Given the description of an element on the screen output the (x, y) to click on. 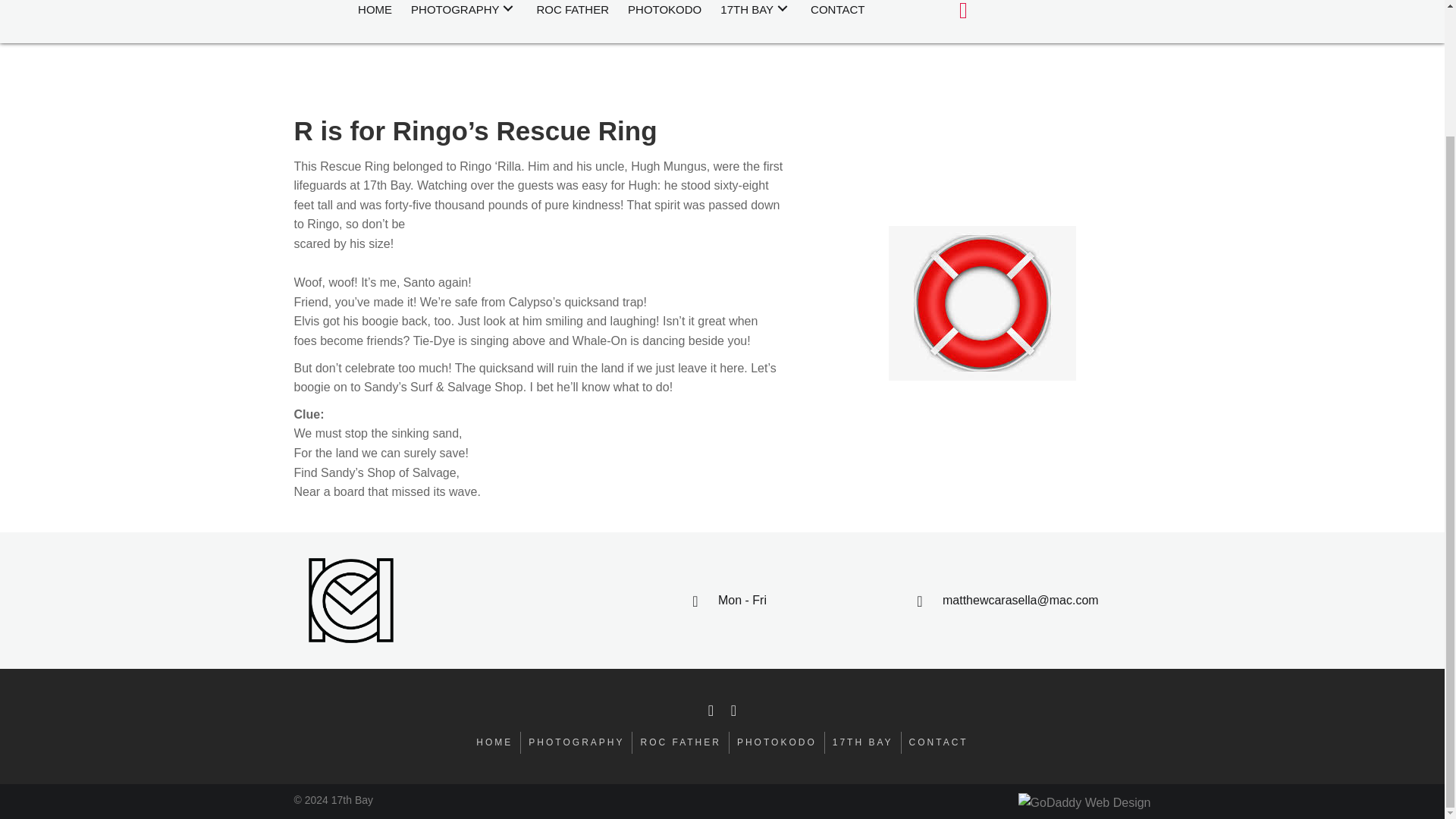
Facebook (710, 710)
HOME (374, 10)
R (981, 303)
Instagram (733, 710)
ROC FATHER (571, 10)
17TH BAY (756, 10)
PHOTOKODO (664, 10)
PHOTOGRAPHY (463, 10)
